Given the description of an element on the screen output the (x, y) to click on. 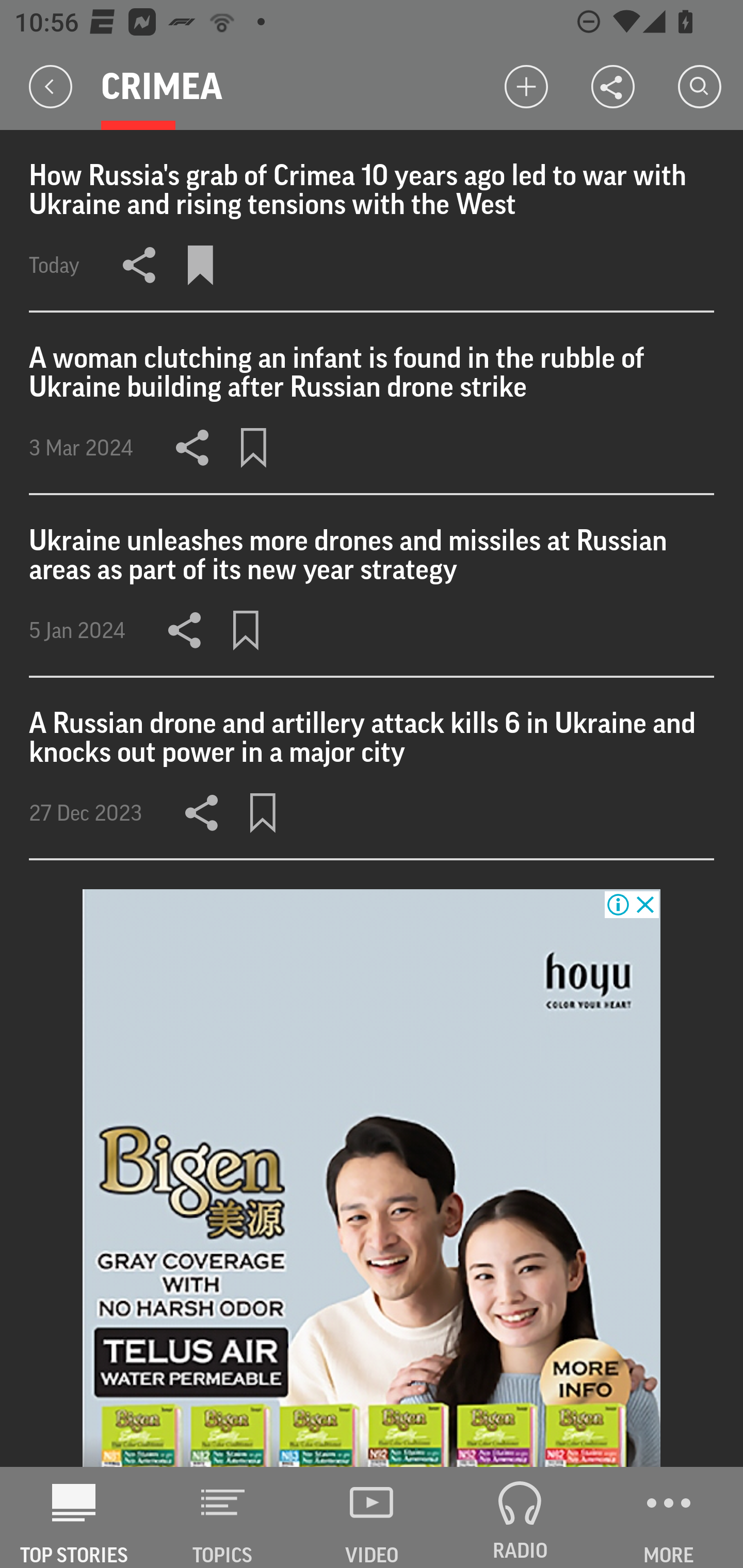
8 (371, 1178)
AP News TOP STORIES (74, 1517)
TOPICS (222, 1517)
VIDEO (371, 1517)
RADIO (519, 1517)
MORE (668, 1517)
